Given the description of an element on the screen output the (x, y) to click on. 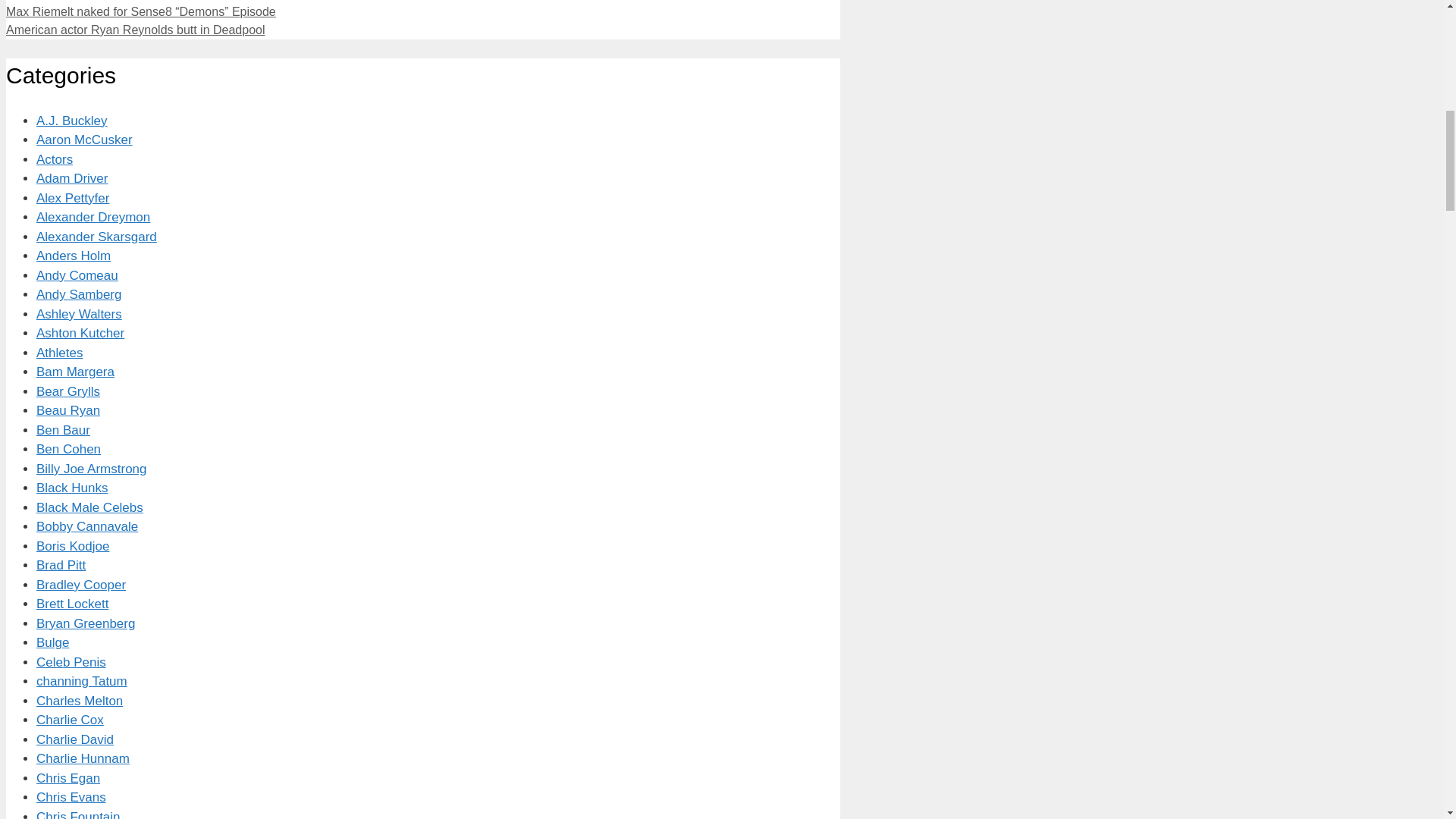
Anders Holm (73, 255)
Actors (54, 159)
Andy Samberg (78, 294)
American actor Ryan Reynolds butt in Deadpool (134, 29)
Ashton Kutcher (79, 332)
Alexander Skarsgard (96, 237)
Billy Joe Armstrong (91, 468)
Andy Comeau (76, 275)
Alexander Dreymon (92, 216)
Black Hunks (71, 487)
Adam Driver (71, 178)
Bam Margera (75, 371)
Black Male Celebs (89, 507)
Aaron McCusker (84, 139)
Ashley Walters (79, 314)
